Given the description of an element on the screen output the (x, y) to click on. 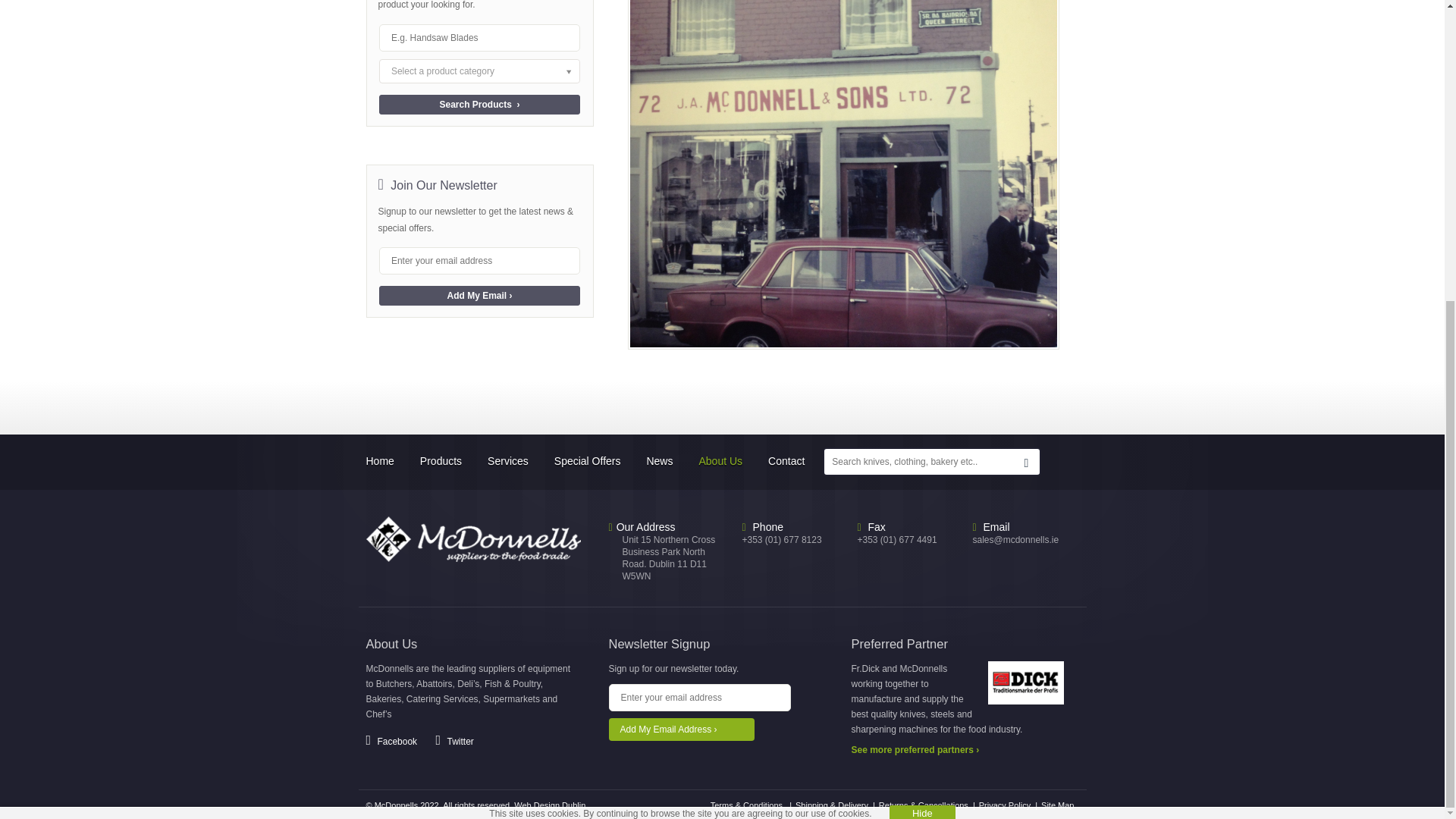
Site Map (1057, 804)
About Us (725, 460)
News (664, 460)
Hide (922, 344)
Home (385, 460)
Select a product category (478, 70)
Facebook (390, 741)
Products (446, 460)
Privacy Policy (1004, 804)
Go To Homepage (478, 539)
Services (513, 460)
Twitter (454, 741)
Contact (791, 460)
Special Offers (593, 460)
